Given the description of an element on the screen output the (x, y) to click on. 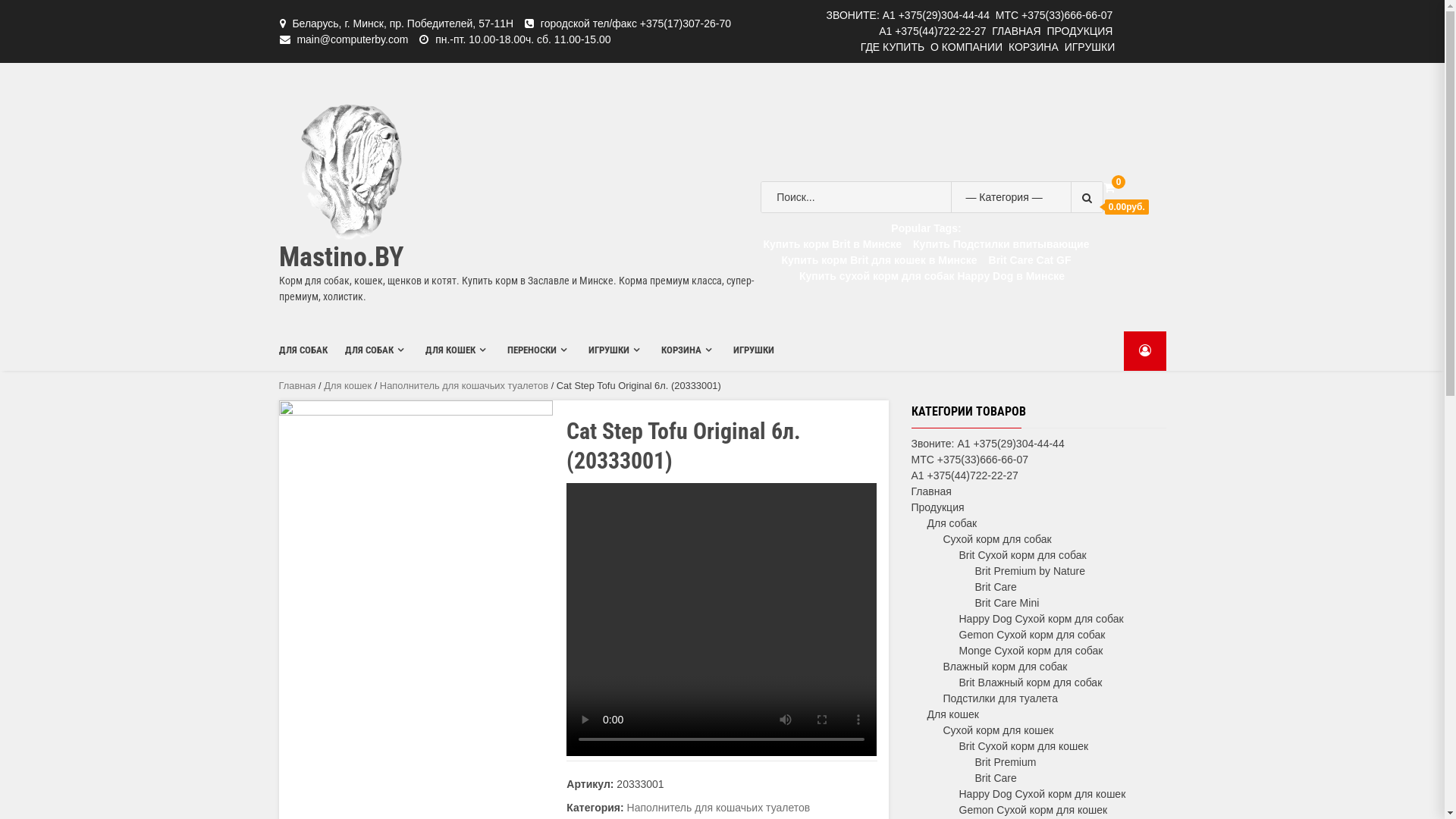
Mastino.BY Element type: text (341, 257)
Cat Step Tofu Original Element type: hover (416, 537)
Brit Premium by Nature Element type: text (1030, 570)
A1 +375(44)722-22-27 Element type: text (964, 475)
Brit Care Cat GF Element type: text (1029, 260)
0 Element type: text (1108, 187)
Brit Care Element type: text (995, 777)
A1 +375(44)722-22-27 Element type: text (931, 31)
Brit Care Mini Element type: text (1007, 602)
Brit Premium Element type: text (1005, 762)
Brit Care Element type: text (995, 586)
main@computerby.com Element type: text (351, 39)
